Given the description of an element on the screen output the (x, y) to click on. 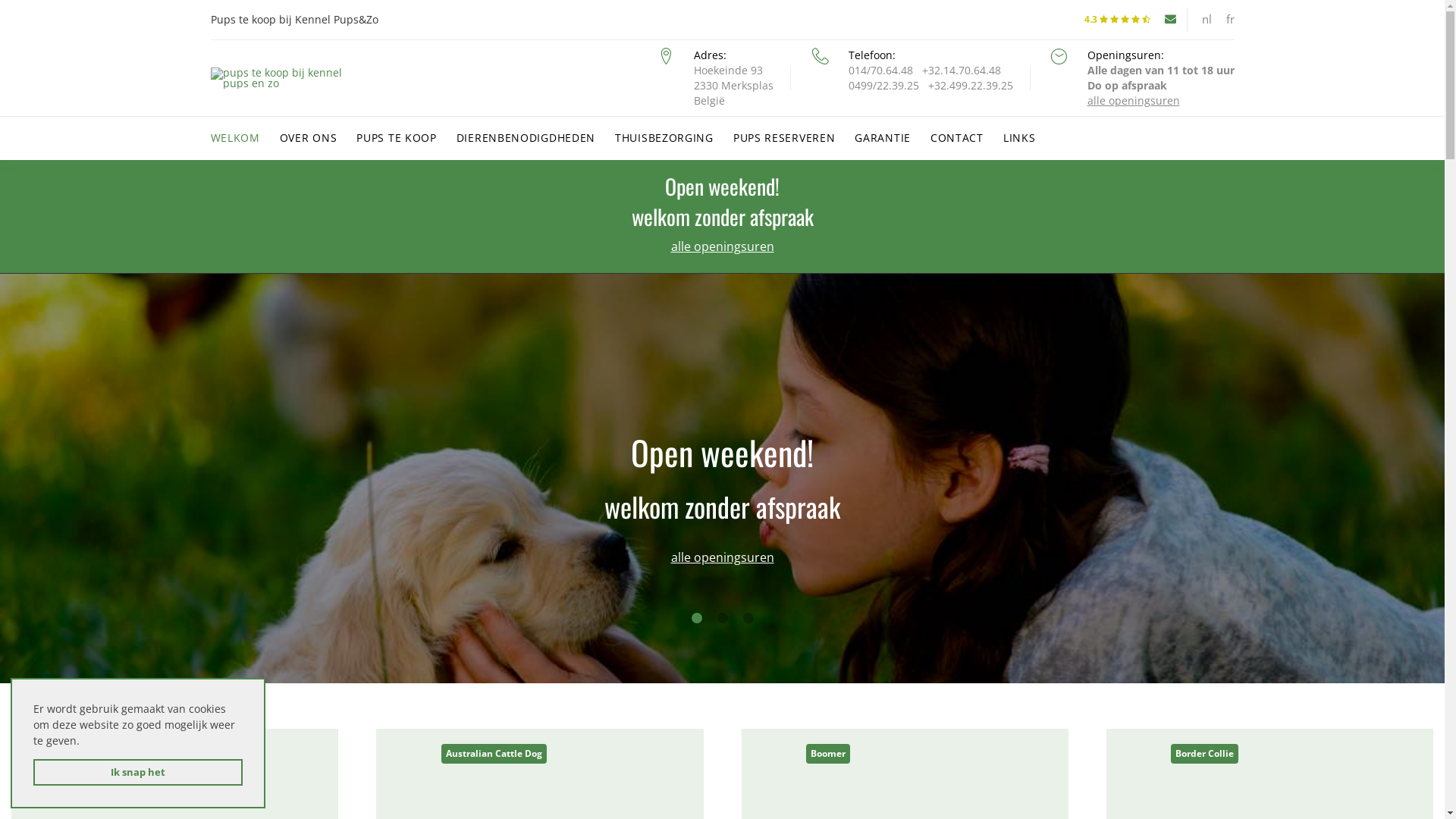
014/70.64.48 Element type: text (879, 70)
+32.499.22.39.25 Element type: text (970, 85)
PUPS TE KOOP Element type: text (396, 137)
alle openingsuren Element type: text (721, 246)
+32.14.70.64.48 Element type: text (961, 70)
PUPS RESERVEREN Element type: text (784, 137)
Ik snap het Element type: text (137, 772)
GARANTIE Element type: text (882, 137)
alle openingsuren Element type: text (1133, 100)
WELKOM Element type: text (235, 137)
OVER ONS Element type: text (308, 137)
THUISBEZORGING Element type: text (664, 137)
CONTACT Element type: text (956, 137)
0499/22.39.25 Element type: text (882, 85)
DIERENBENODIGDHEDEN Element type: text (525, 137)
alle openingsuren Element type: text (721, 557)
LINKS Element type: text (1019, 137)
fr Element type: text (1229, 19)
nl Element type: text (1206, 19)
